Given the description of an element on the screen output the (x, y) to click on. 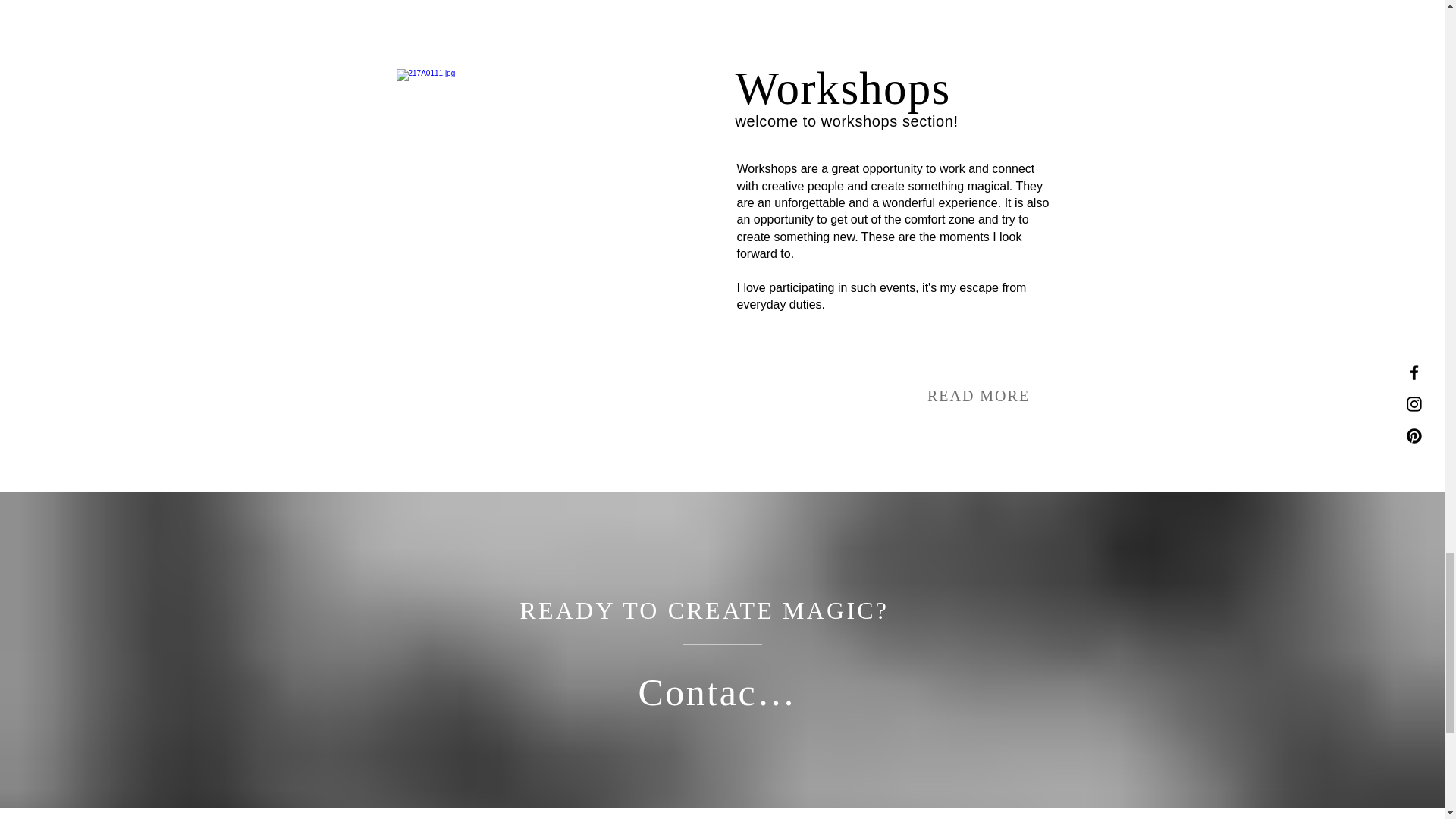
Contact me! (722, 691)
Workshops (842, 87)
READ MORE (978, 395)
